Given the description of an element on the screen output the (x, y) to click on. 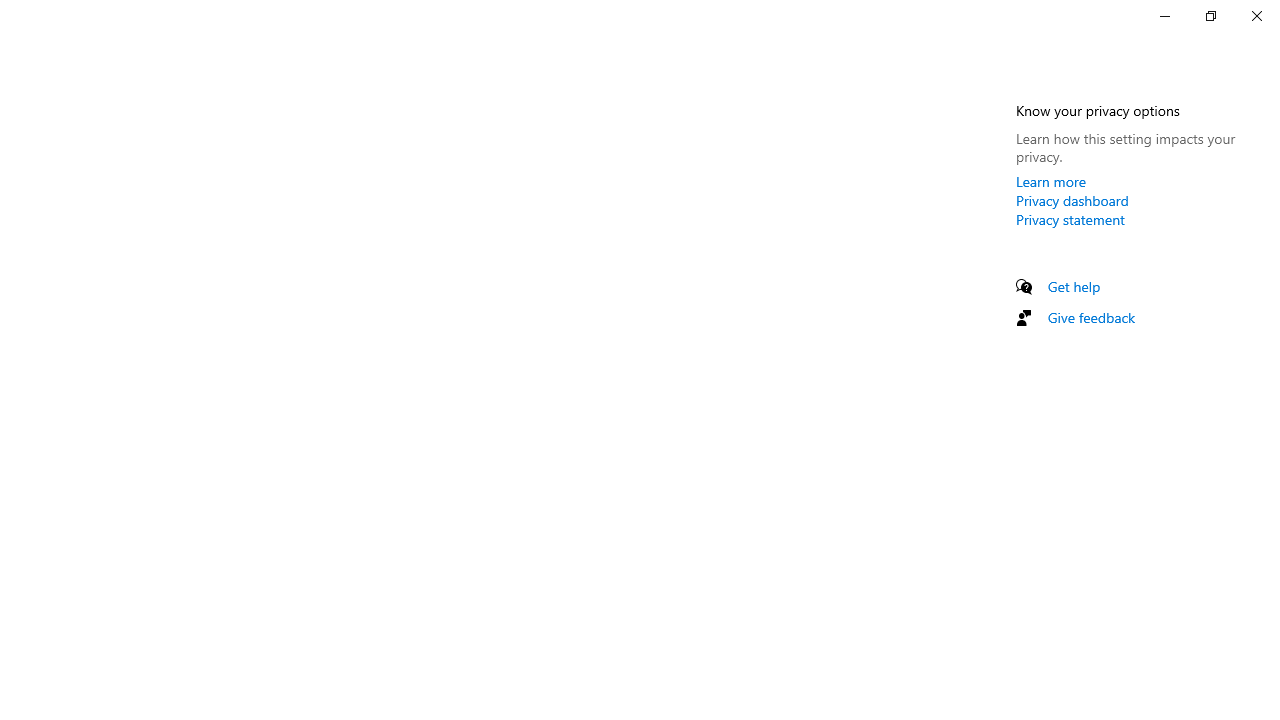
Privacy dashboard (1072, 200)
Minimize Settings (1164, 15)
Privacy statement (1070, 219)
Get help (1074, 286)
Close Settings (1256, 15)
Give feedback (1091, 317)
Learn more (1051, 181)
Restore Settings (1210, 15)
